Given the description of an element on the screen output the (x, y) to click on. 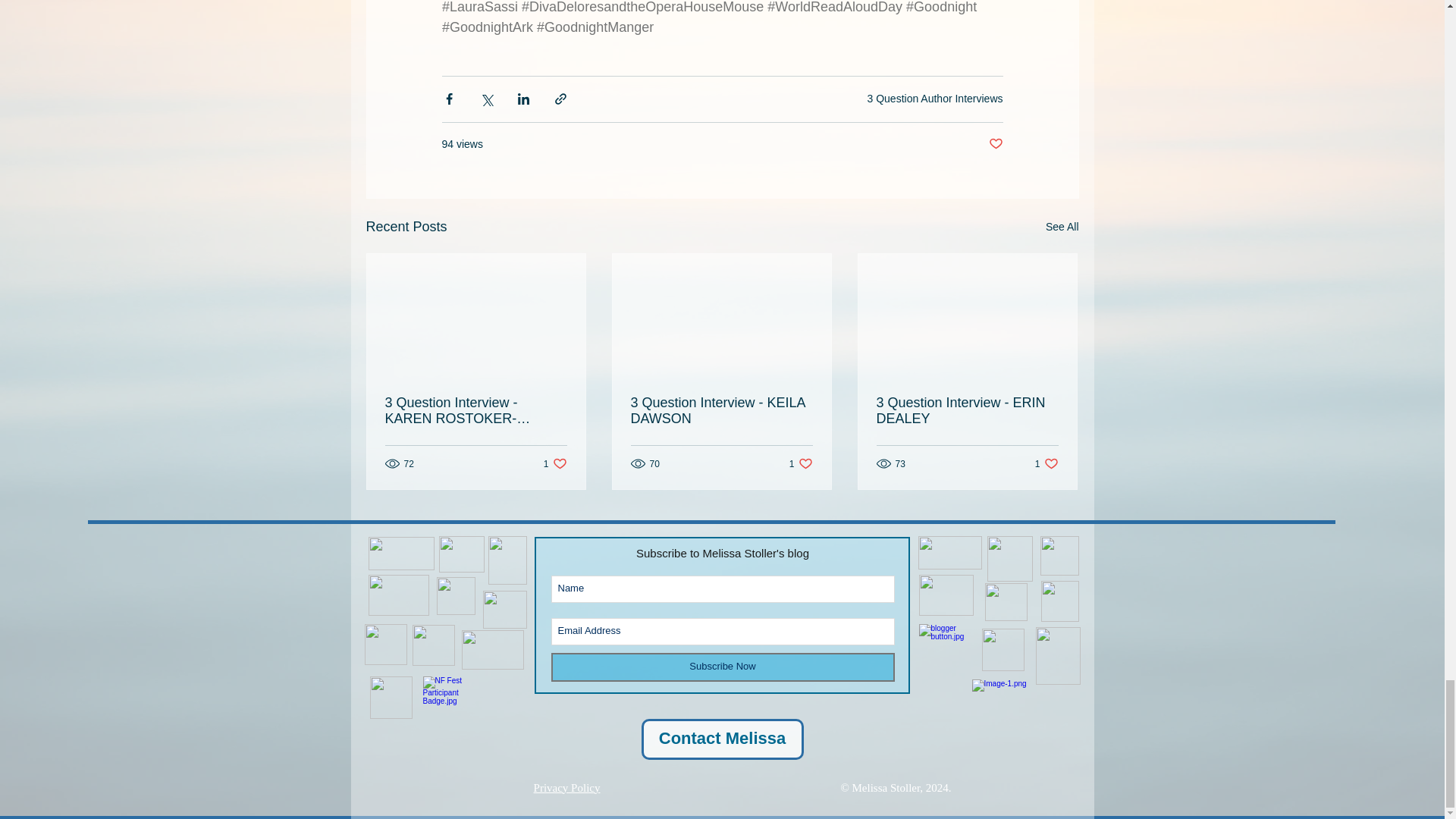
unnamed.jpg (460, 554)
